Given the description of an element on the screen output the (x, y) to click on. 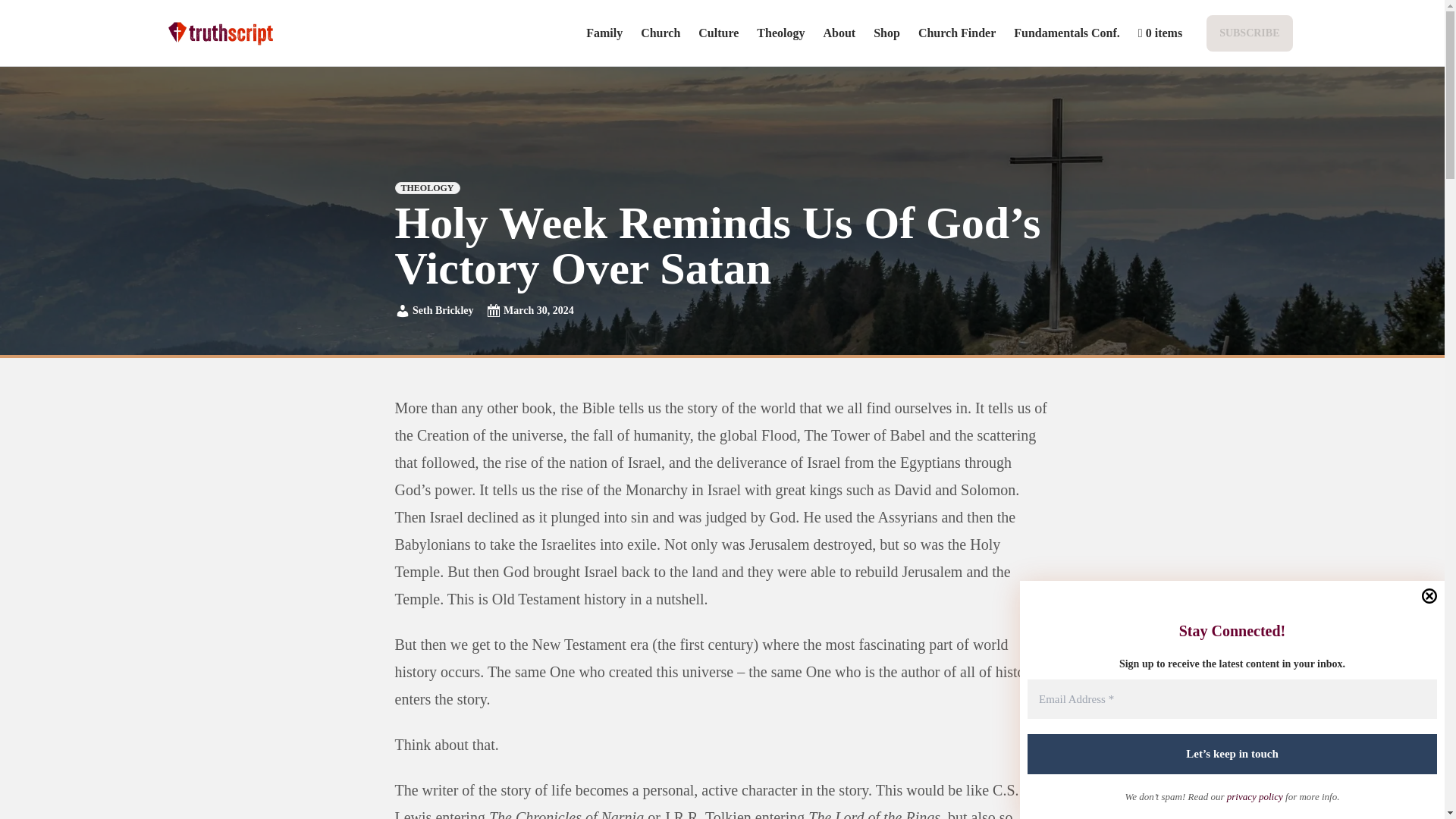
Seth Brickley (433, 310)
Culture (718, 32)
Family (604, 32)
Church (659, 32)
Fundamentals Conf. (1066, 32)
SUBSCRIBE (1248, 32)
Theology (781, 32)
SUBSCRIBE (1249, 33)
Email Address (1232, 699)
Shop (886, 32)
Start shopping (1160, 32)
0 items (1160, 32)
About (839, 32)
Church Finder (956, 32)
